Given the description of an element on the screen output the (x, y) to click on. 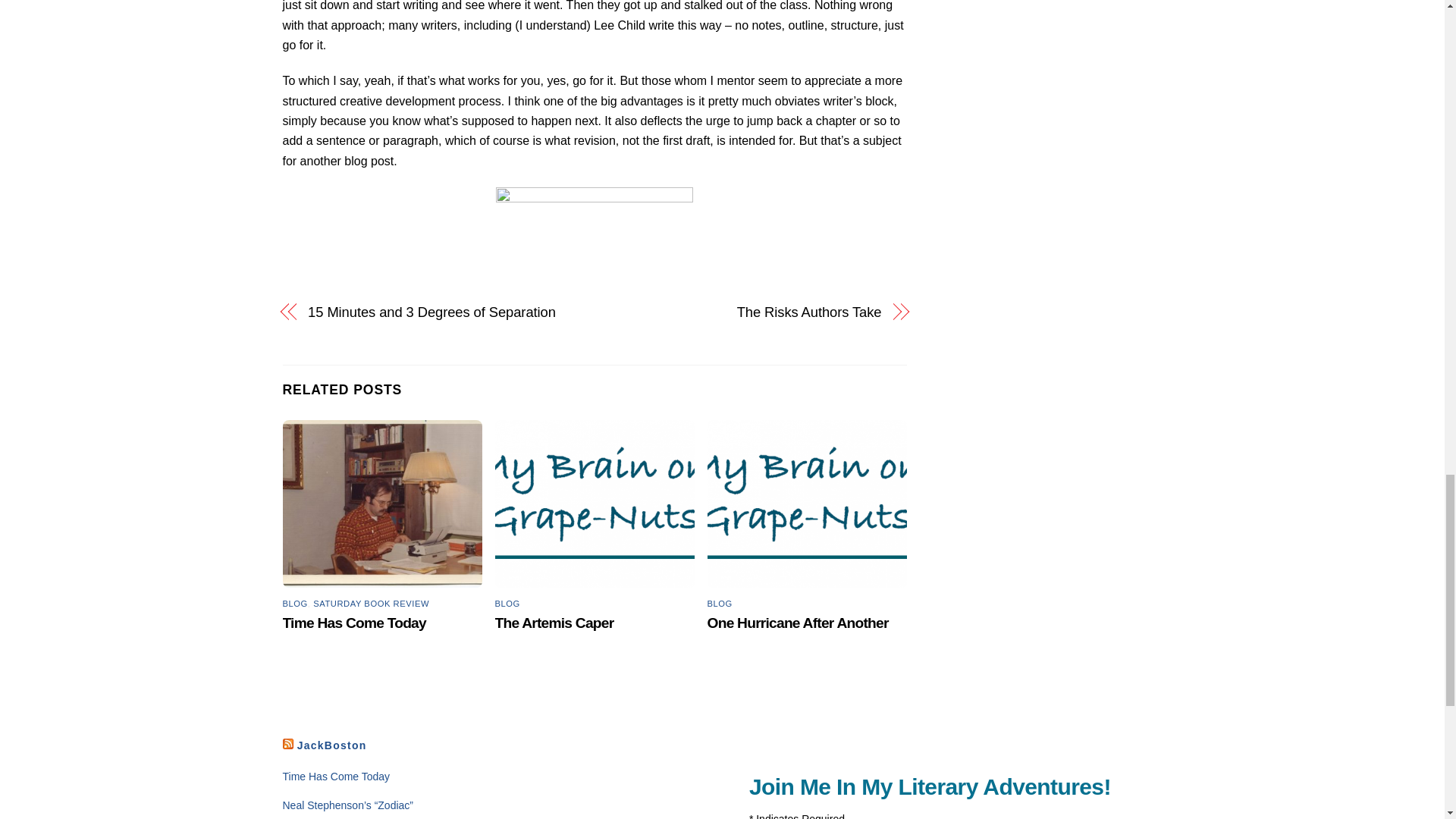
The Artemis Caper (554, 622)
USE my-brain-on-grape-nuts-jack-boston (807, 504)
Jack at typewriter 1973 (381, 504)
One Hurricane After Another (797, 622)
BLOG (294, 603)
Time Has Come Today (353, 622)
Time Has Come Today (336, 776)
SATURDAY BOOK REVIEW (371, 603)
BLOG (507, 603)
JackBoston (331, 745)
USE my-brain-on-grape-nuts-jack-boston (595, 504)
The Risks Authors Take (746, 312)
BLOG (719, 603)
15 Minutes and 3 Degrees of Separation (441, 312)
